Given the description of an element on the screen output the (x, y) to click on. 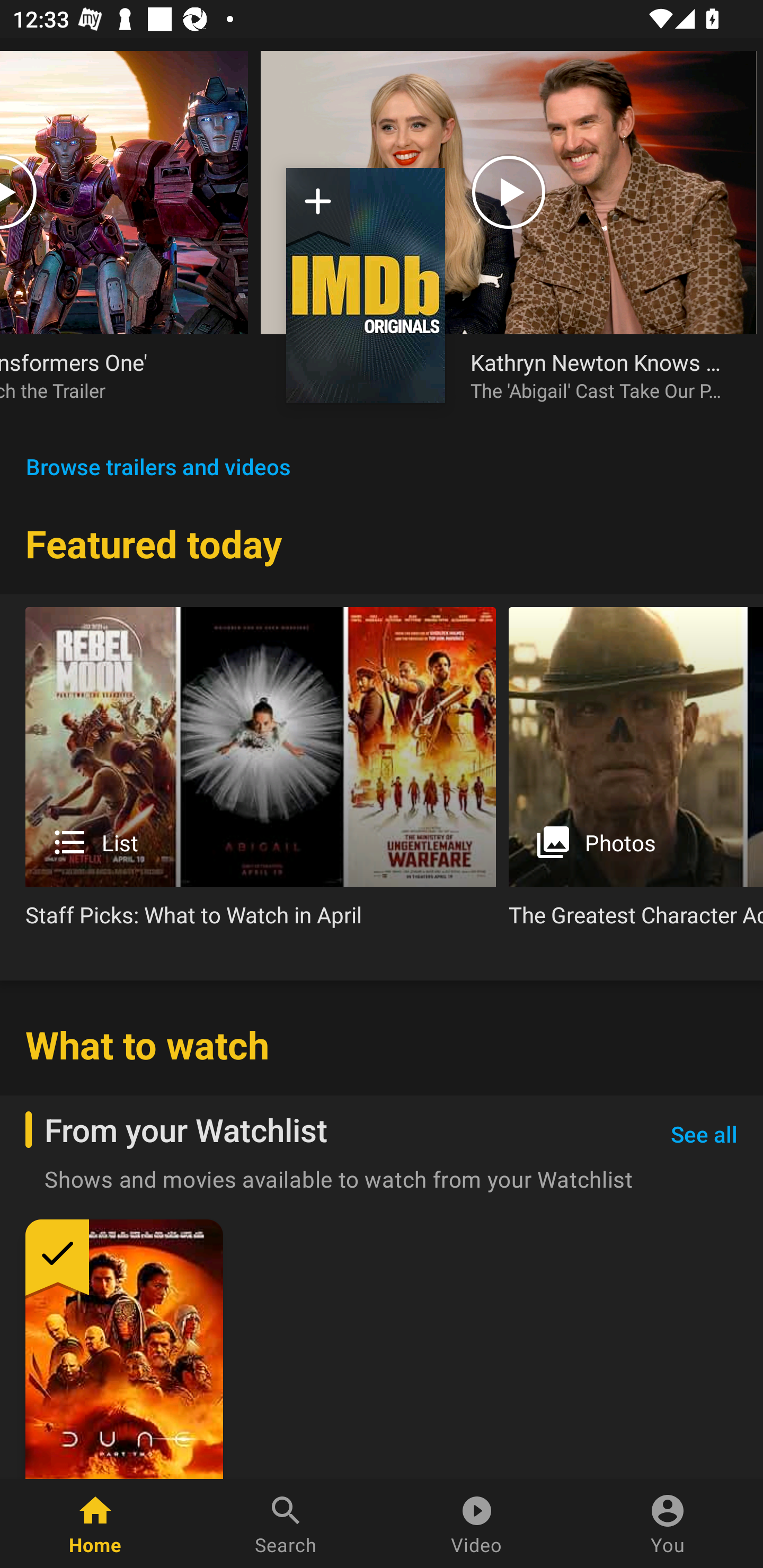
Not in watchlist (365, 284)
Not in watchlist (317, 207)
List Staff Picks: What to Watch in April (260, 774)
Photos The Greatest Character Actors of All Time (635, 774)
See all See all From your Watchlist (703, 1134)
Search (285, 1523)
Video (476, 1523)
You (667, 1523)
